Given the description of an element on the screen output the (x, y) to click on. 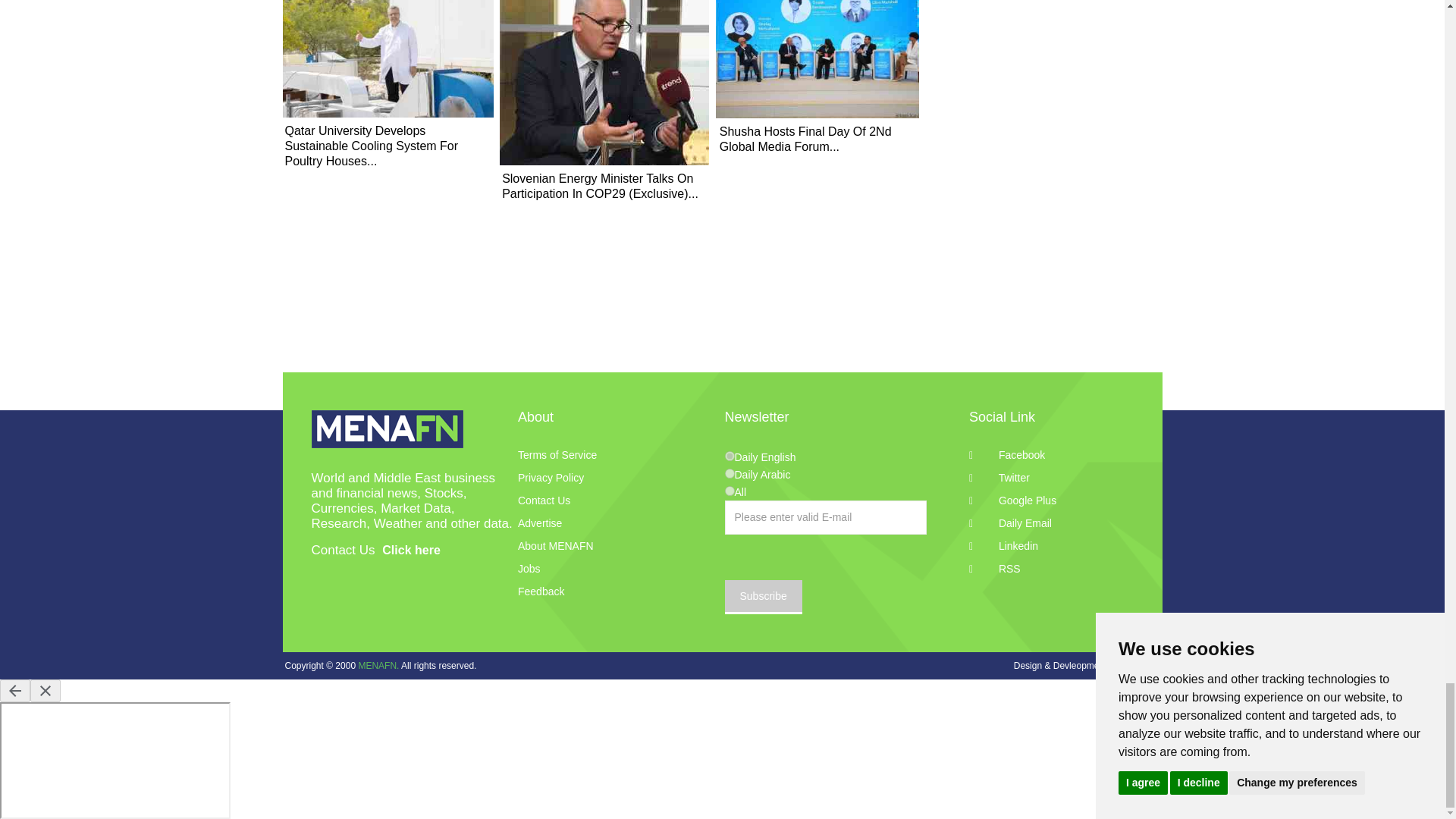
Subscribe (763, 596)
